Given the description of an element on the screen output the (x, y) to click on. 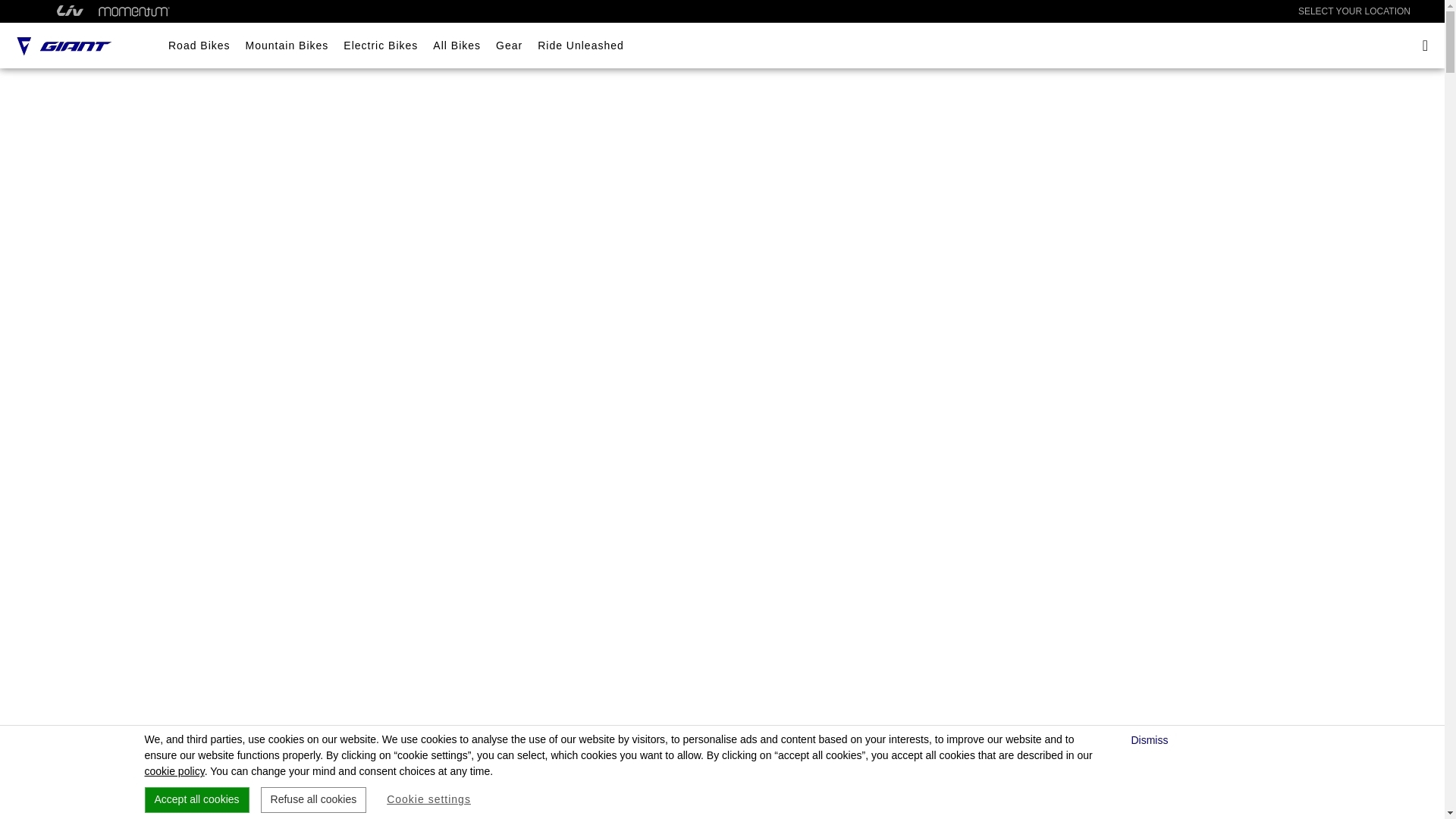
All Bikes (456, 44)
Ride Unleashed (580, 44)
Dismiss (1150, 740)
Electric Bikes (380, 44)
Accept all cookies (196, 800)
Refuse all cookies (313, 800)
Road Bikes (199, 44)
SELECT YOUR LOCATION (1354, 11)
Cookie settings (428, 799)
cookie policy (173, 770)
Momentum (134, 11)
Liv (69, 10)
Mountain Bikes (287, 44)
